Given the description of an element on the screen output the (x, y) to click on. 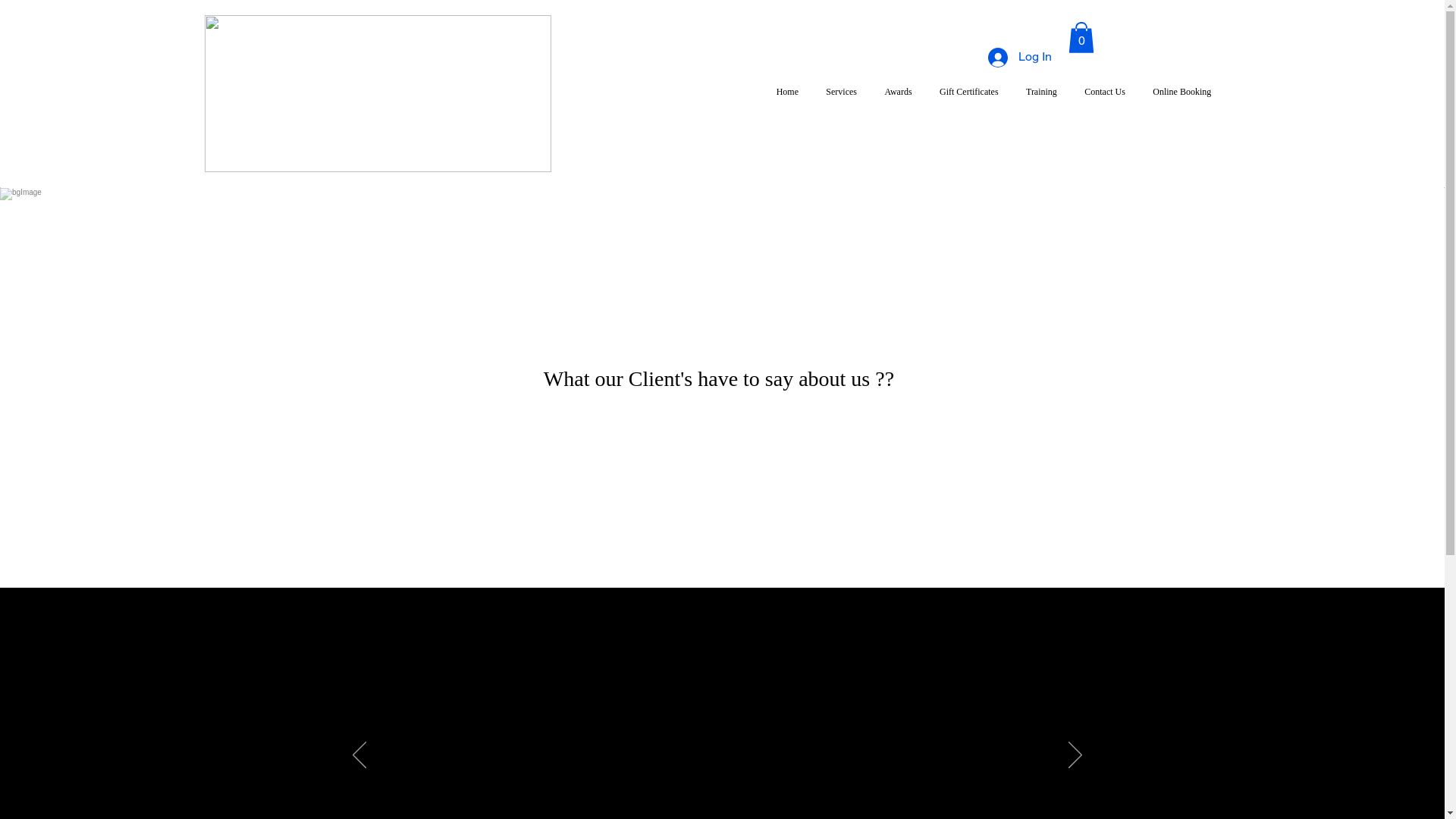
Online Booking Element type: text (1181, 91)
Contact Us Element type: text (1104, 91)
Log In Element type: text (1018, 57)
0 Element type: text (1080, 37)
Services Element type: text (841, 91)
Home Element type: text (787, 91)
Training Element type: text (1041, 91)
Awards Element type: text (897, 91)
Gift Certificates Element type: text (968, 91)
